Given the description of an element on the screen output the (x, y) to click on. 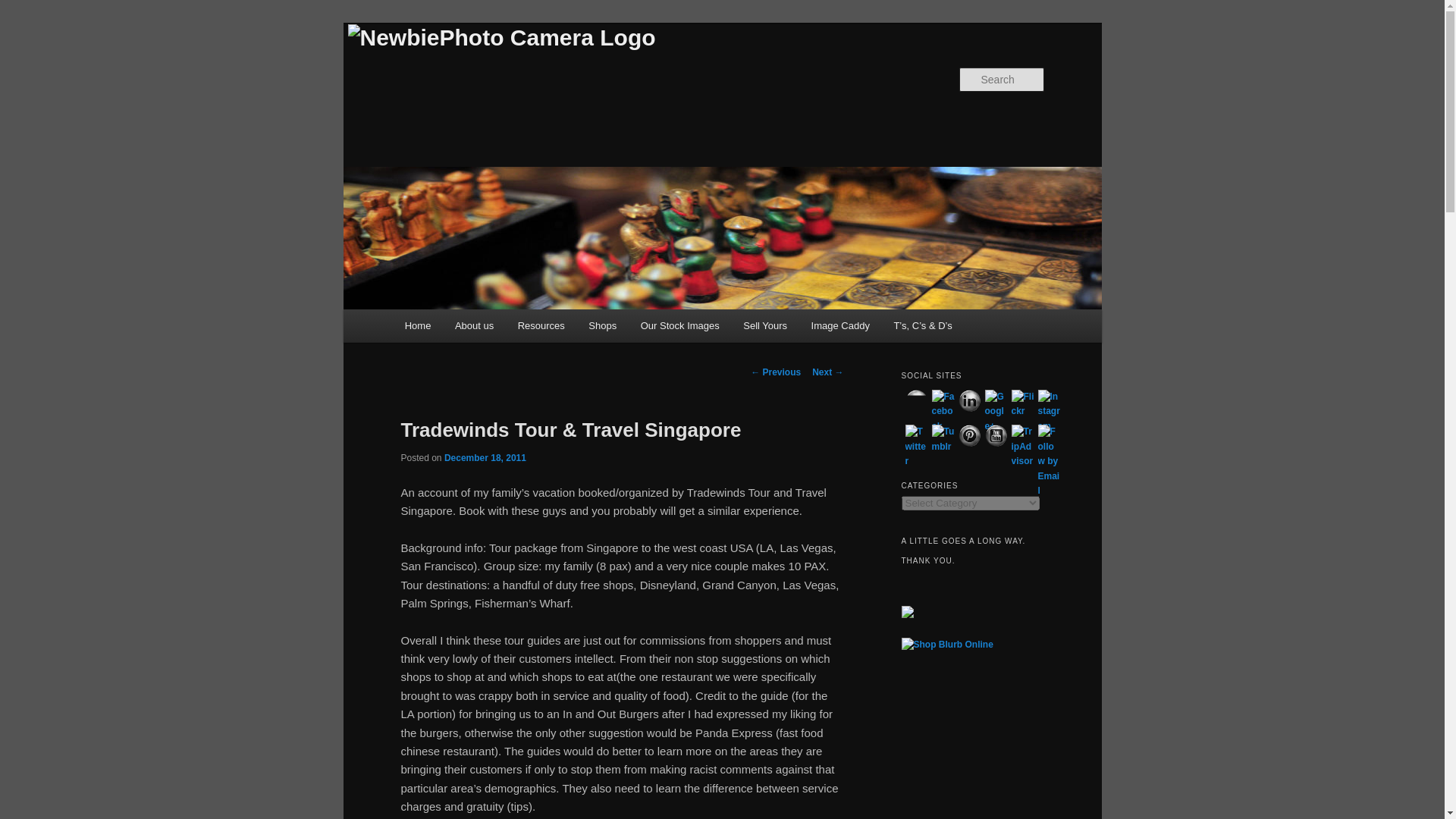
Our Stock Images (680, 325)
Search (24, 8)
About us (473, 325)
Shops (602, 325)
Resources (540, 325)
09:36 (484, 457)
Home (417, 325)
